Given the description of an element on the screen output the (x, y) to click on. 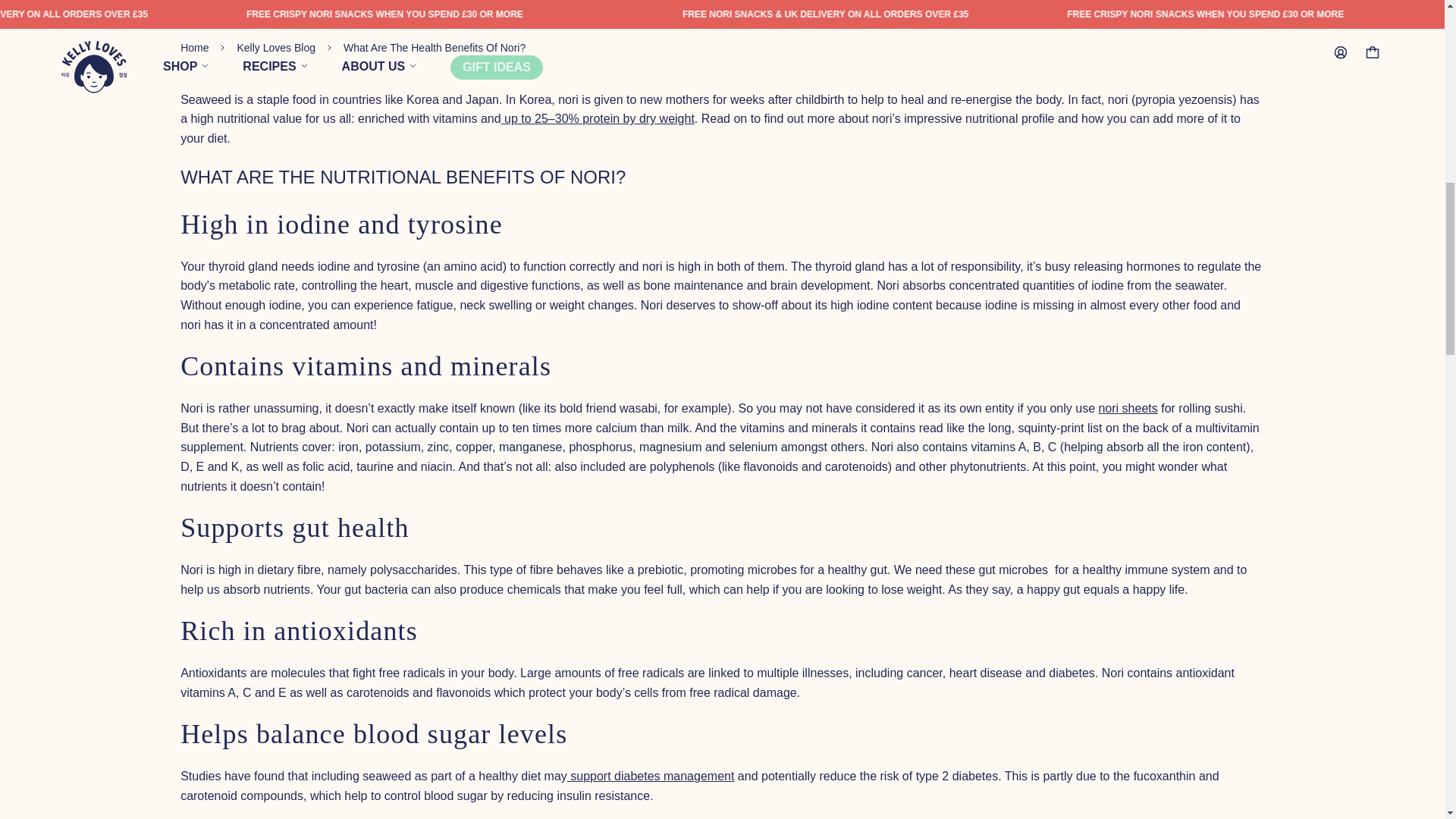
What are the health benefits of nori? (434, 47)
Kelly Loves Blog (275, 47)
Home (194, 47)
